Given the description of an element on the screen output the (x, y) to click on. 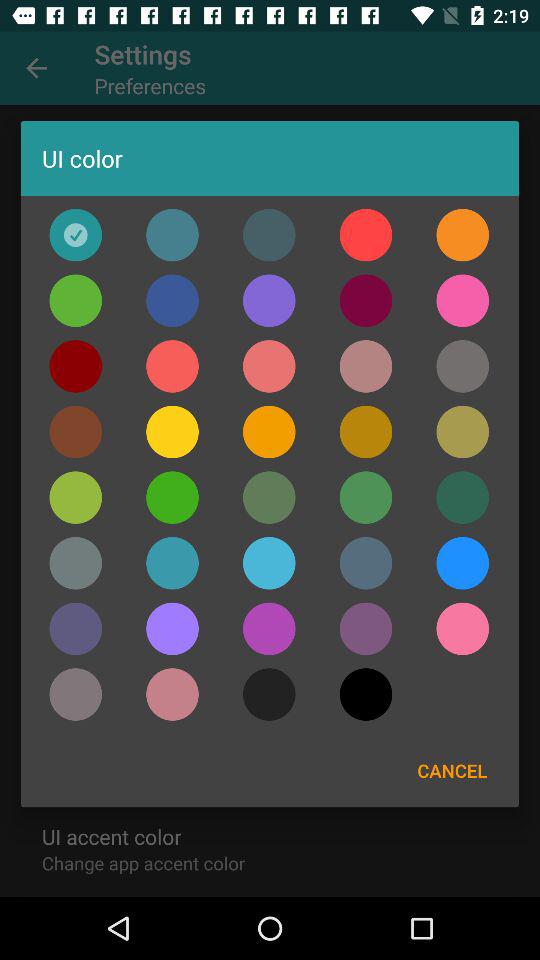
go back (75, 300)
